Given the description of an element on the screen output the (x, y) to click on. 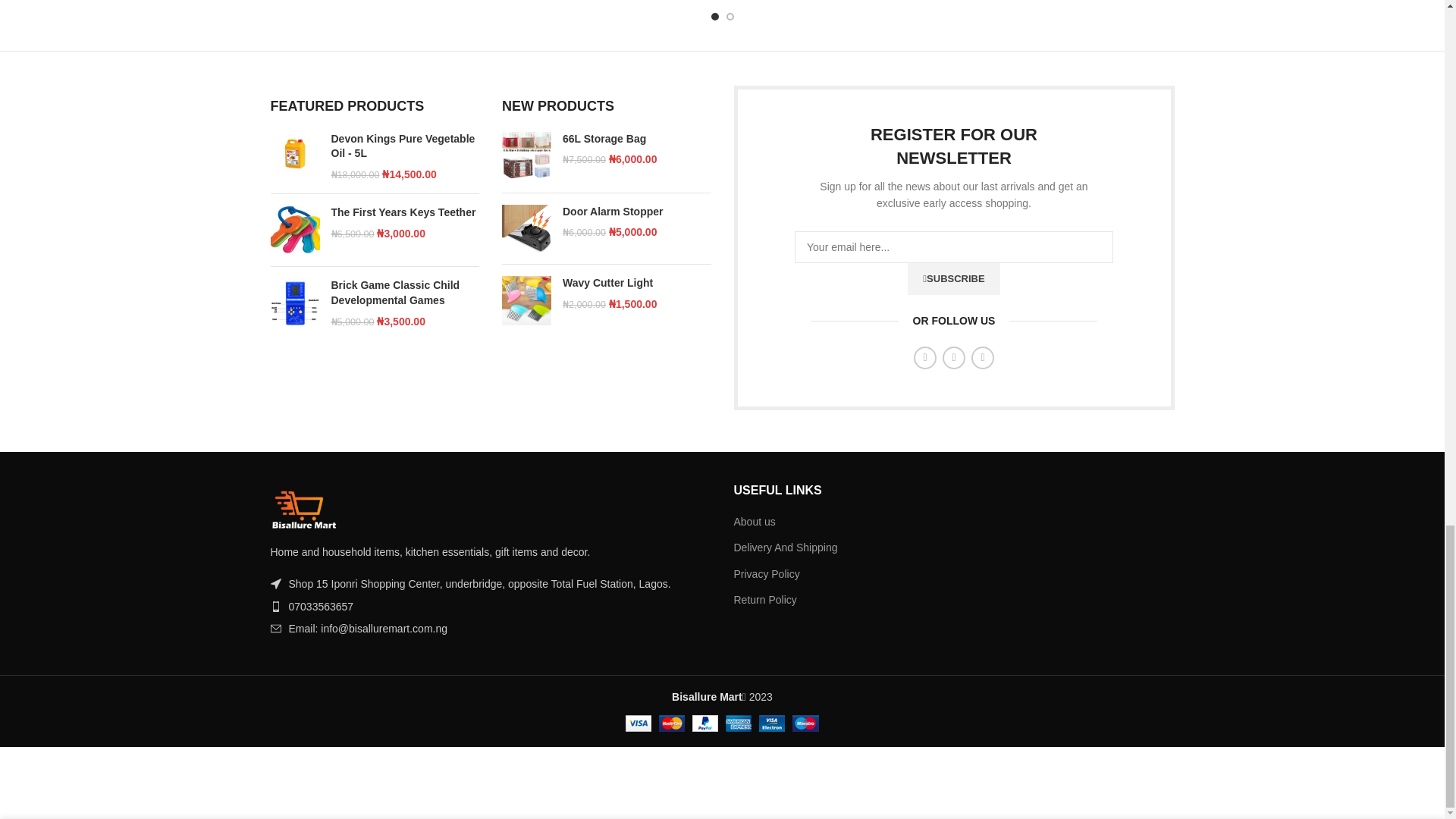
The First Years Keys Teether (404, 212)
Door Alarm Stopper (526, 228)
Devon Kings Pure Vegetable Oil - 5L (293, 156)
Door Alarm Stopper (636, 212)
66L Storage Bag (526, 155)
Brick Game Classic Child Developmental Games (293, 303)
The First Years Keys Teether (293, 229)
66L Storage Bag (636, 139)
Devon Kings Pure Vegetable Oil - 5L (404, 146)
Brick Game Classic Child Developmental Games (404, 292)
